Given the description of an element on the screen output the (x, y) to click on. 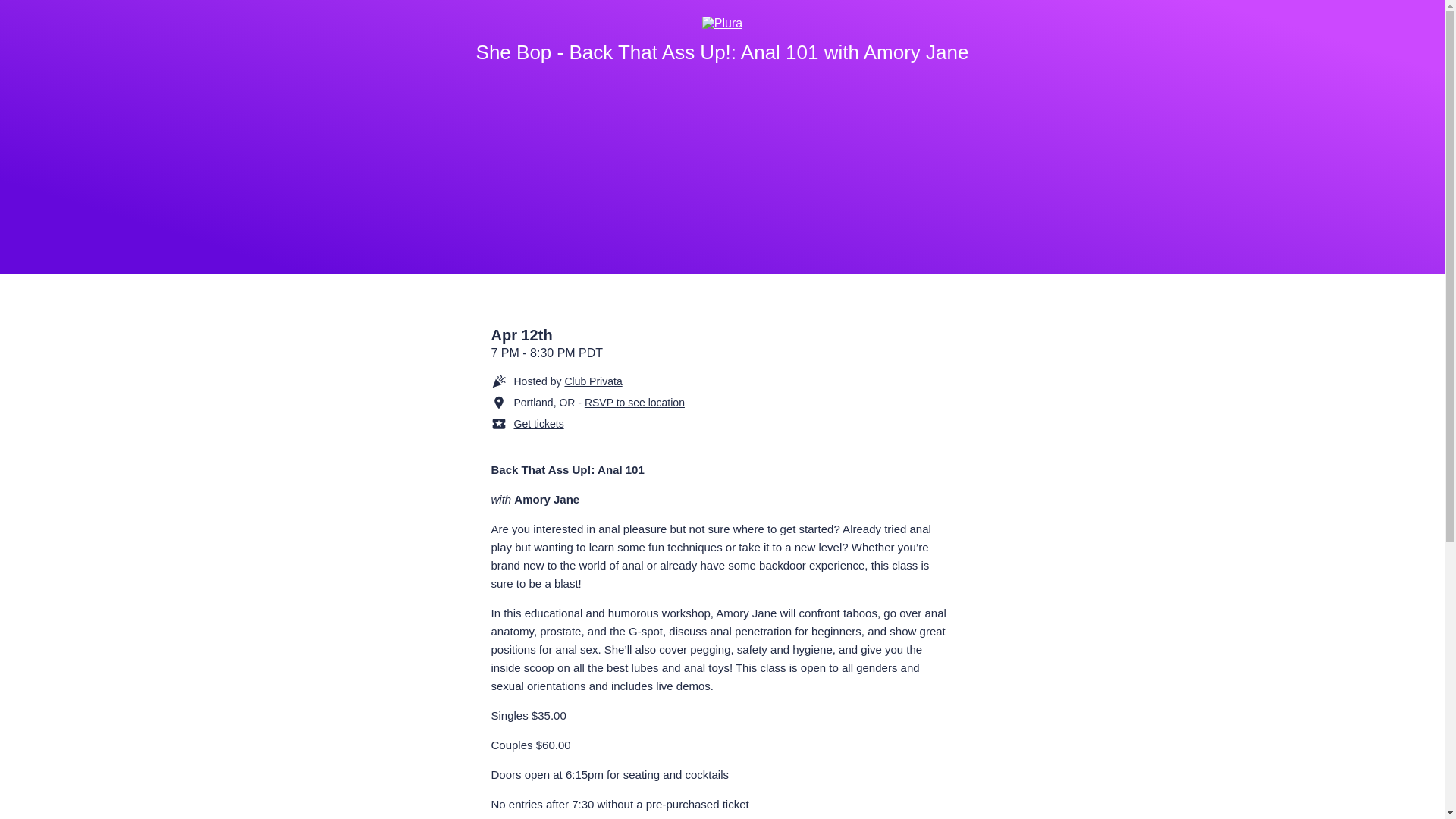
Get tickets (538, 423)
Address (643, 402)
Event date and time (722, 343)
Club Privata (592, 381)
RSVP to see location (634, 402)
Tickets (643, 423)
Organization (643, 381)
